Given the description of an element on the screen output the (x, y) to click on. 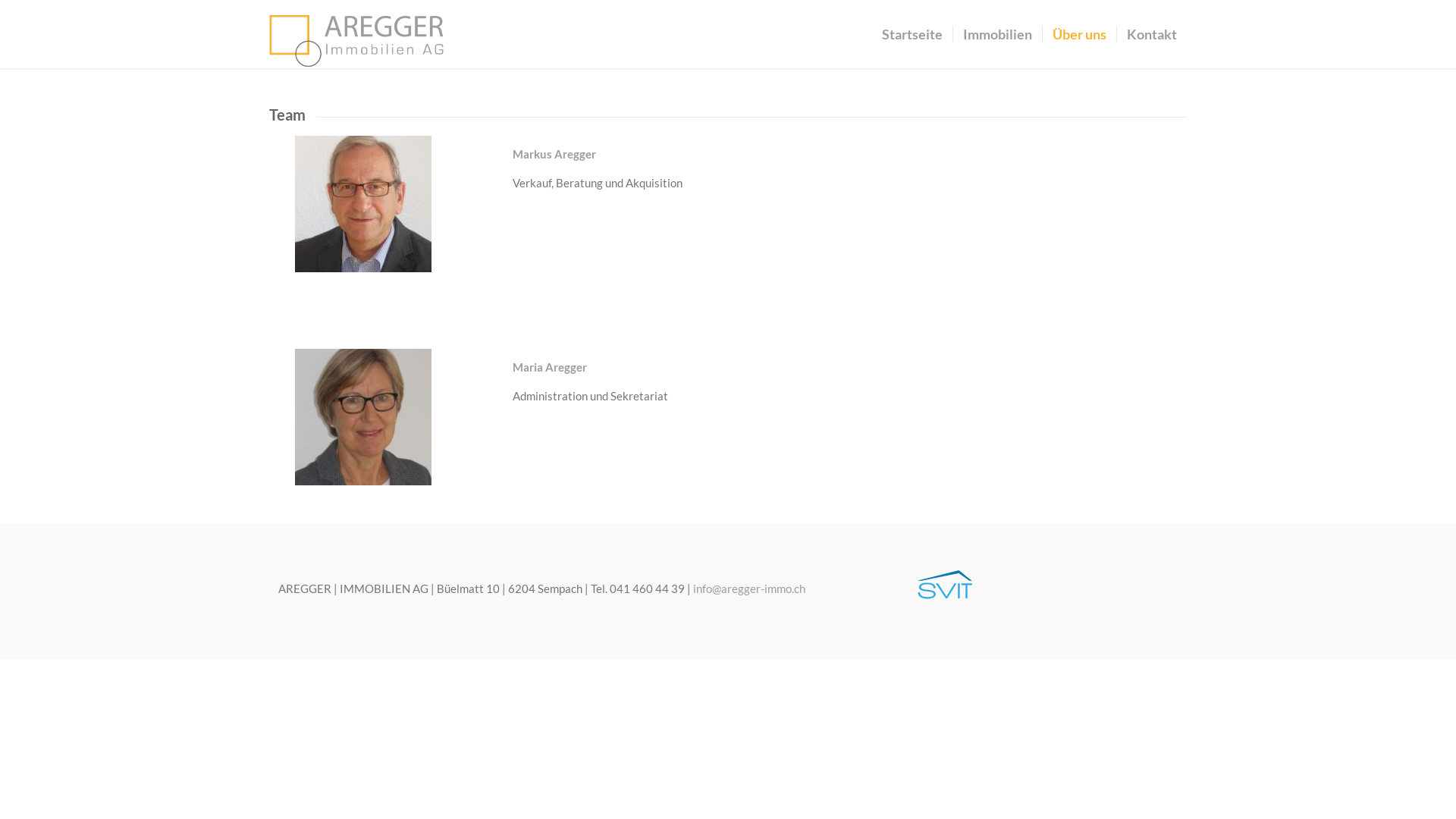
info@aregger-immo.ch Element type: text (749, 588)
Kontakt Element type: text (1151, 34)
Markus Aregger Element type: hover (362, 202)
Immobilien Element type: text (996, 34)
Maria Aregger Element type: hover (362, 416)
Startseite Element type: text (912, 34)
